Given the description of an element on the screen output the (x, y) to click on. 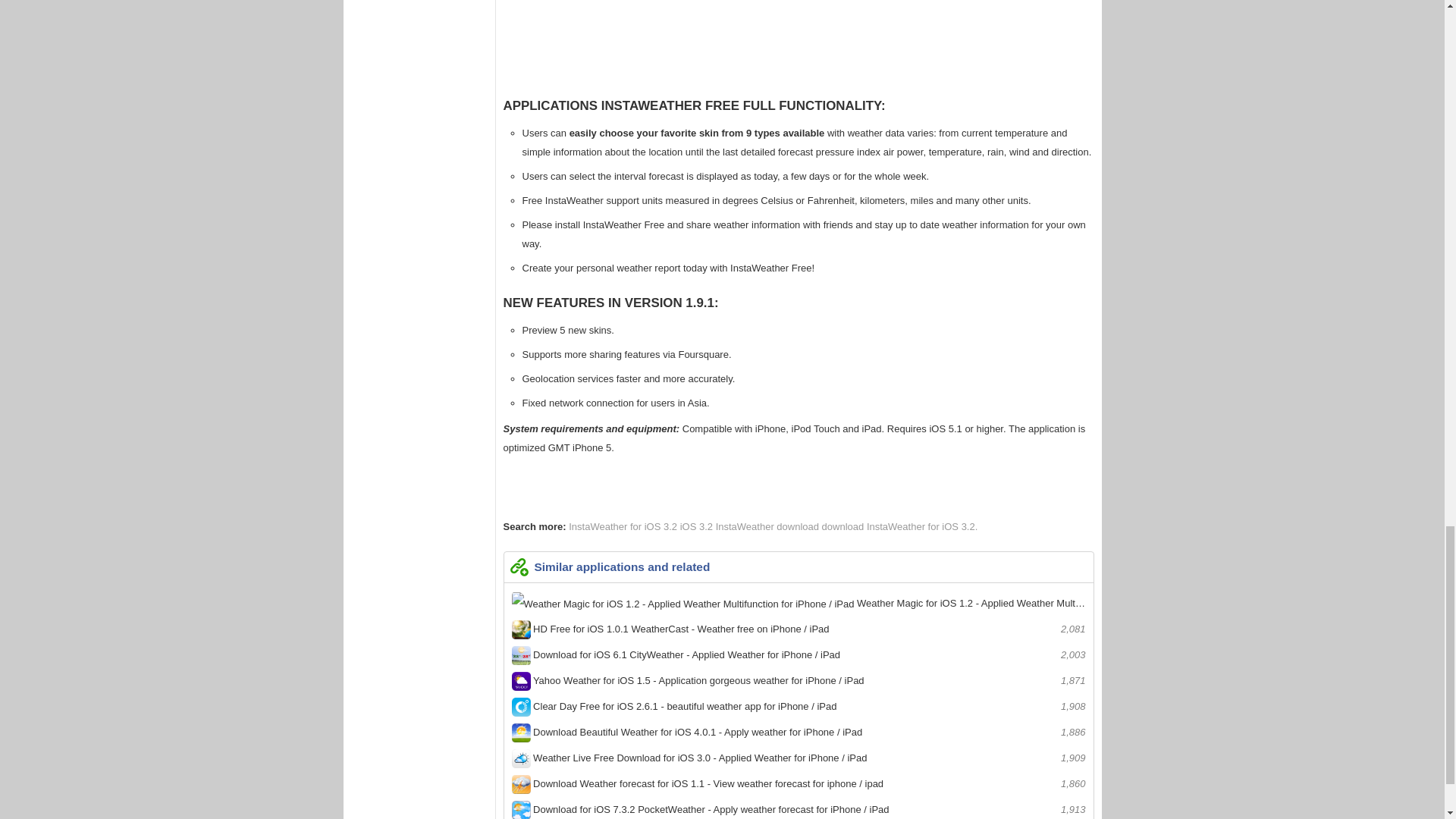
InstaWeather for iOS 3.2 (624, 526)
